Given the description of an element on the screen output the (x, y) to click on. 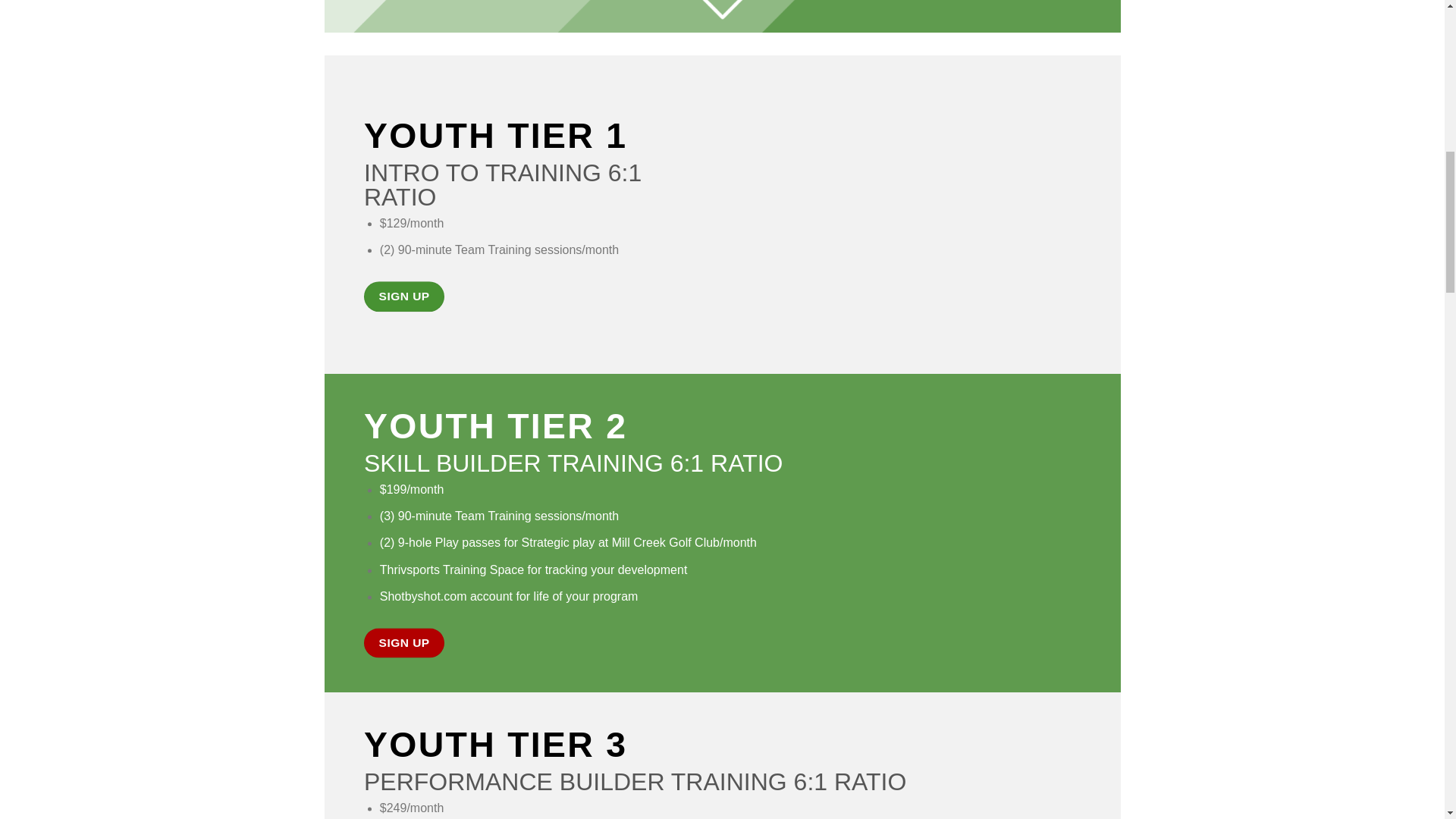
SIGN UP (404, 296)
SIGN UP (404, 642)
